Given the description of an element on the screen output the (x, y) to click on. 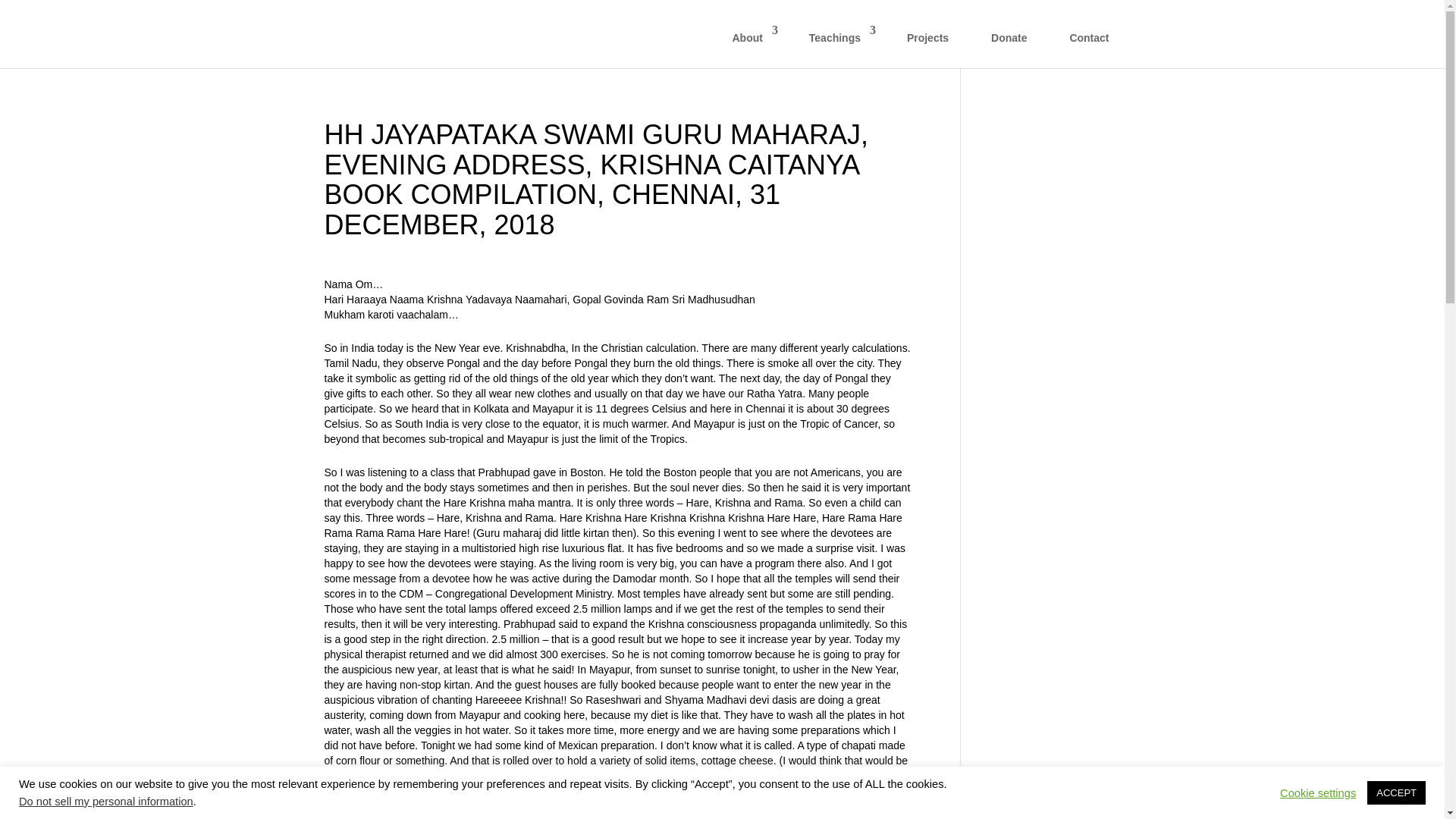
Do not sell my personal information (105, 801)
Cookie settings (1317, 792)
Donate (1008, 46)
About (748, 46)
Teachings (836, 46)
Contact (1088, 46)
ACCEPT (1396, 792)
Projects (927, 46)
